Given the description of an element on the screen output the (x, y) to click on. 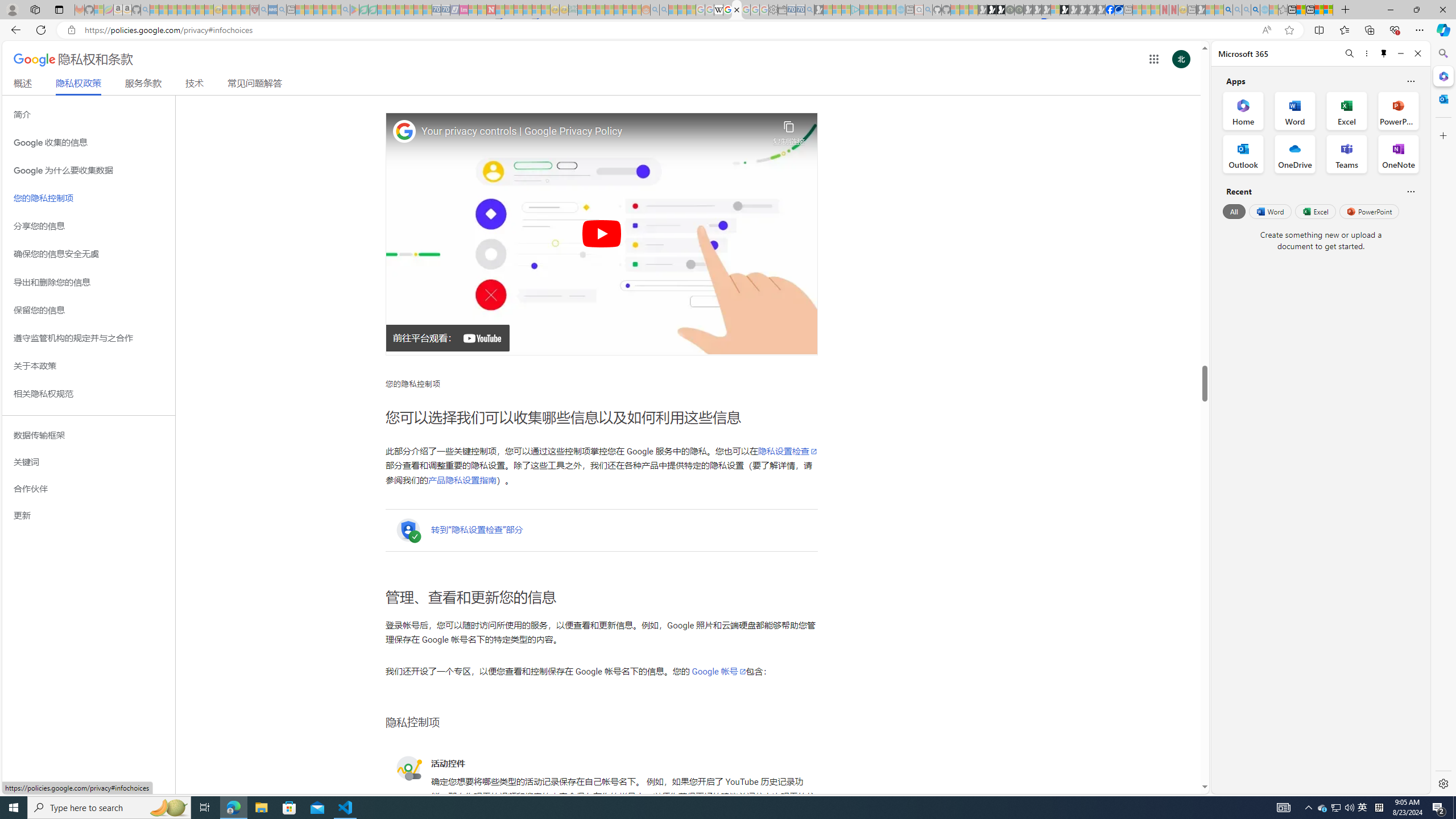
Excel (1315, 210)
Aberdeen, Hong Kong SAR weather forecast | Microsoft Weather (1300, 9)
Nordace | Facebook (1109, 9)
